Given the description of an element on the screen output the (x, y) to click on. 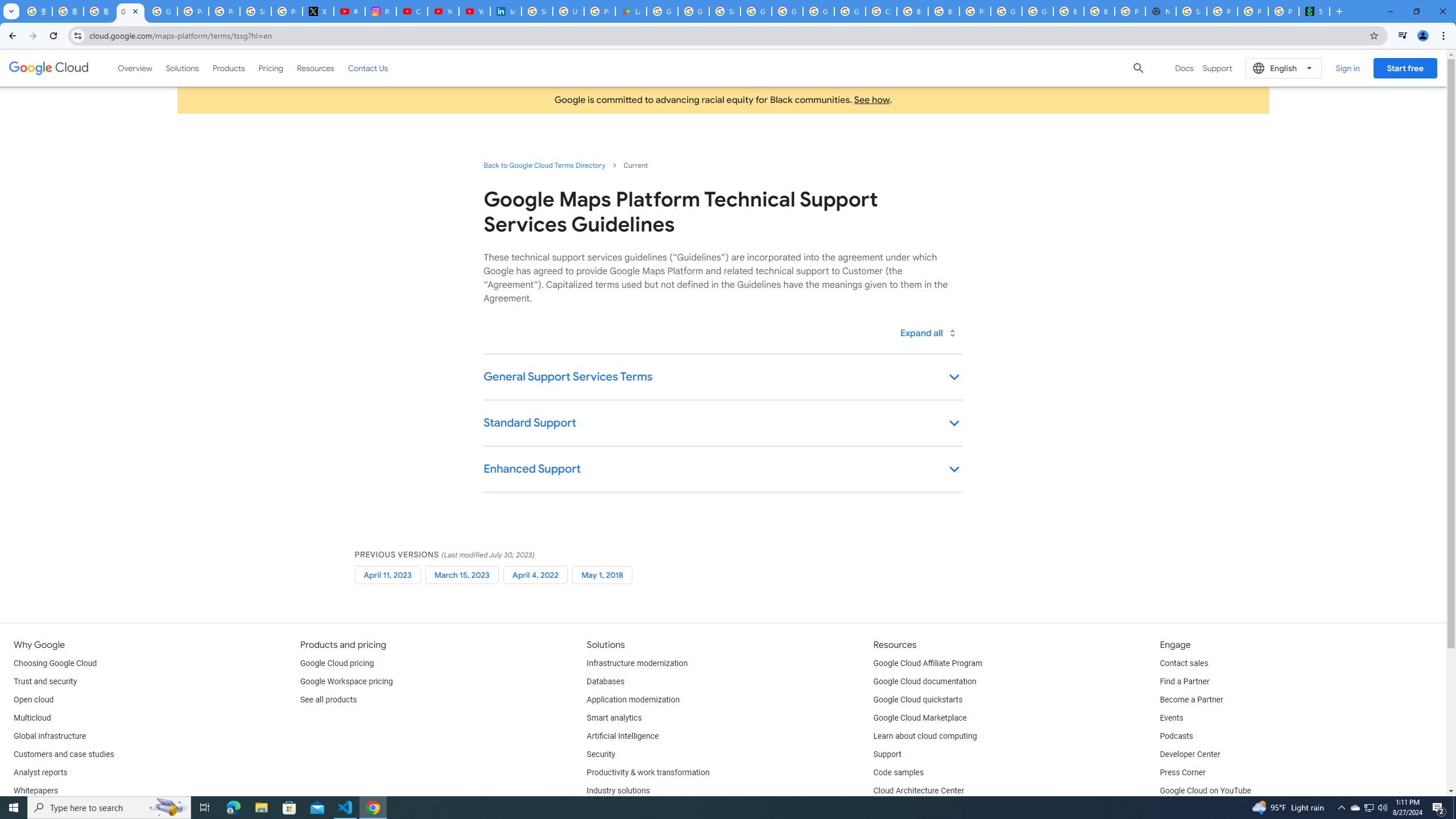
Products (228, 67)
Google Workspace pricing (346, 682)
Overview (135, 67)
Solutions (181, 67)
YouTube Culture & Trends - YouTube Top 10, 2021 (474, 11)
